Given the description of an element on the screen output the (x, y) to click on. 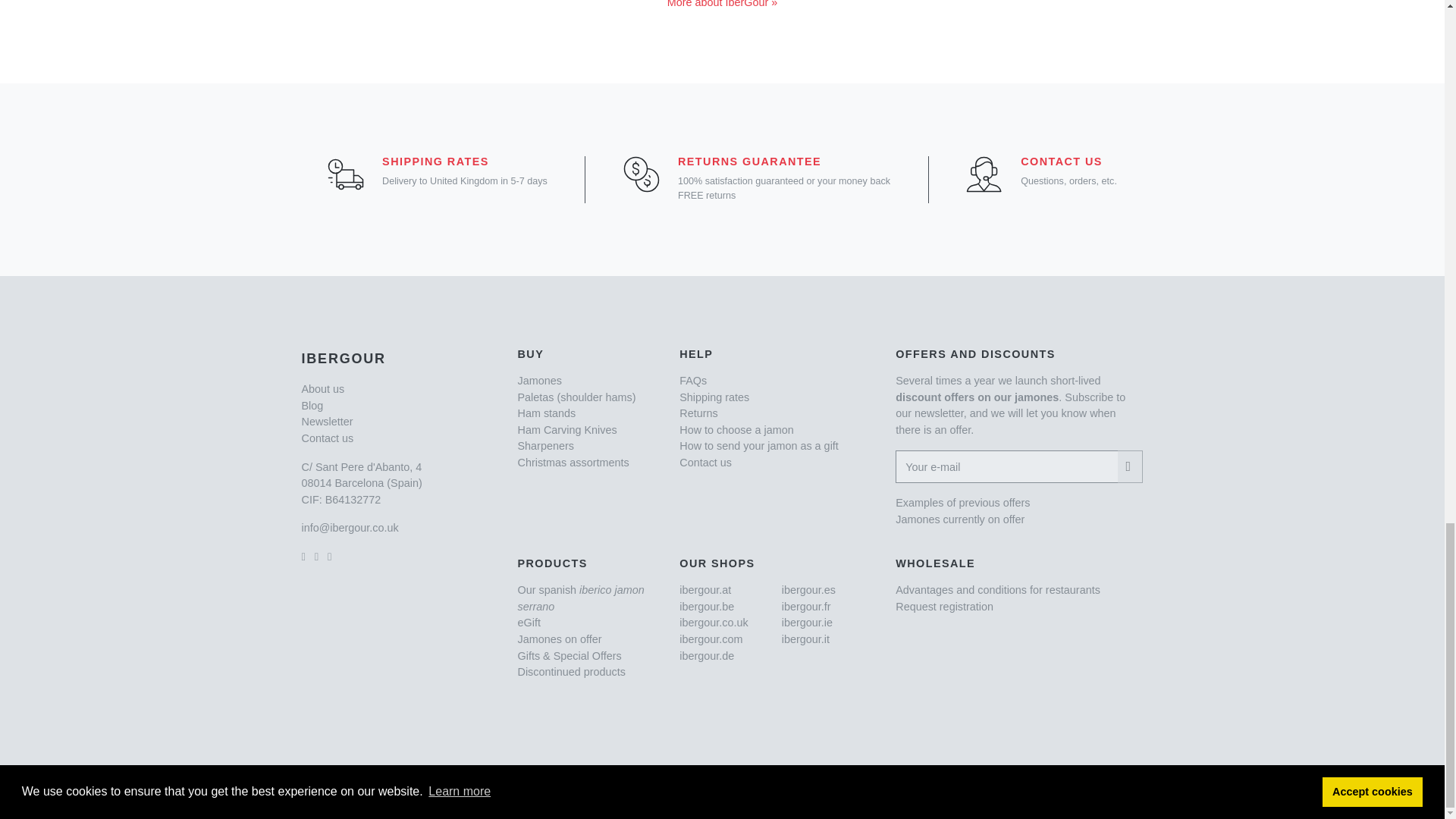
MasterCard (856, 791)
email (349, 527)
Visa (796, 791)
American Express (951, 791)
Bank transfer (1103, 791)
PayPal (1033, 791)
